Given the description of an element on the screen output the (x, y) to click on. 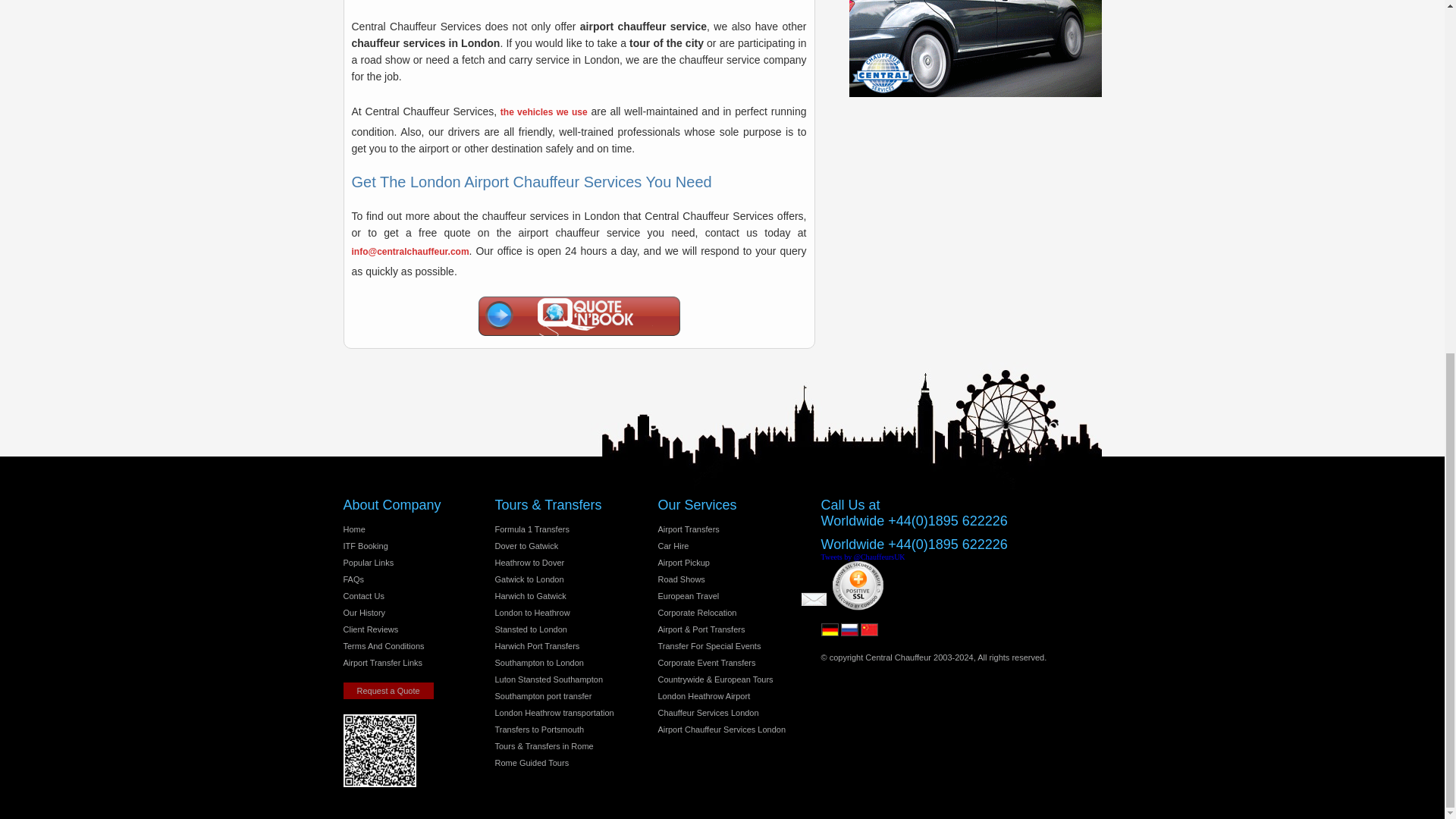
Formula 1 Transfers (532, 528)
Stansted to London (530, 628)
Southampton port transfer (543, 696)
Formula 1 Transfers (532, 528)
Request a Quote (387, 690)
Harwich to Gatwick (530, 595)
London to Heathrow (532, 612)
Contact Us (363, 595)
Our Vechicles (544, 112)
Home (353, 528)
ITF Booking (364, 545)
Terms And Conditions (382, 645)
Luton Stansted Southampton (548, 678)
Our History (363, 612)
Southampton to London (539, 662)
